Given the description of an element on the screen output the (x, y) to click on. 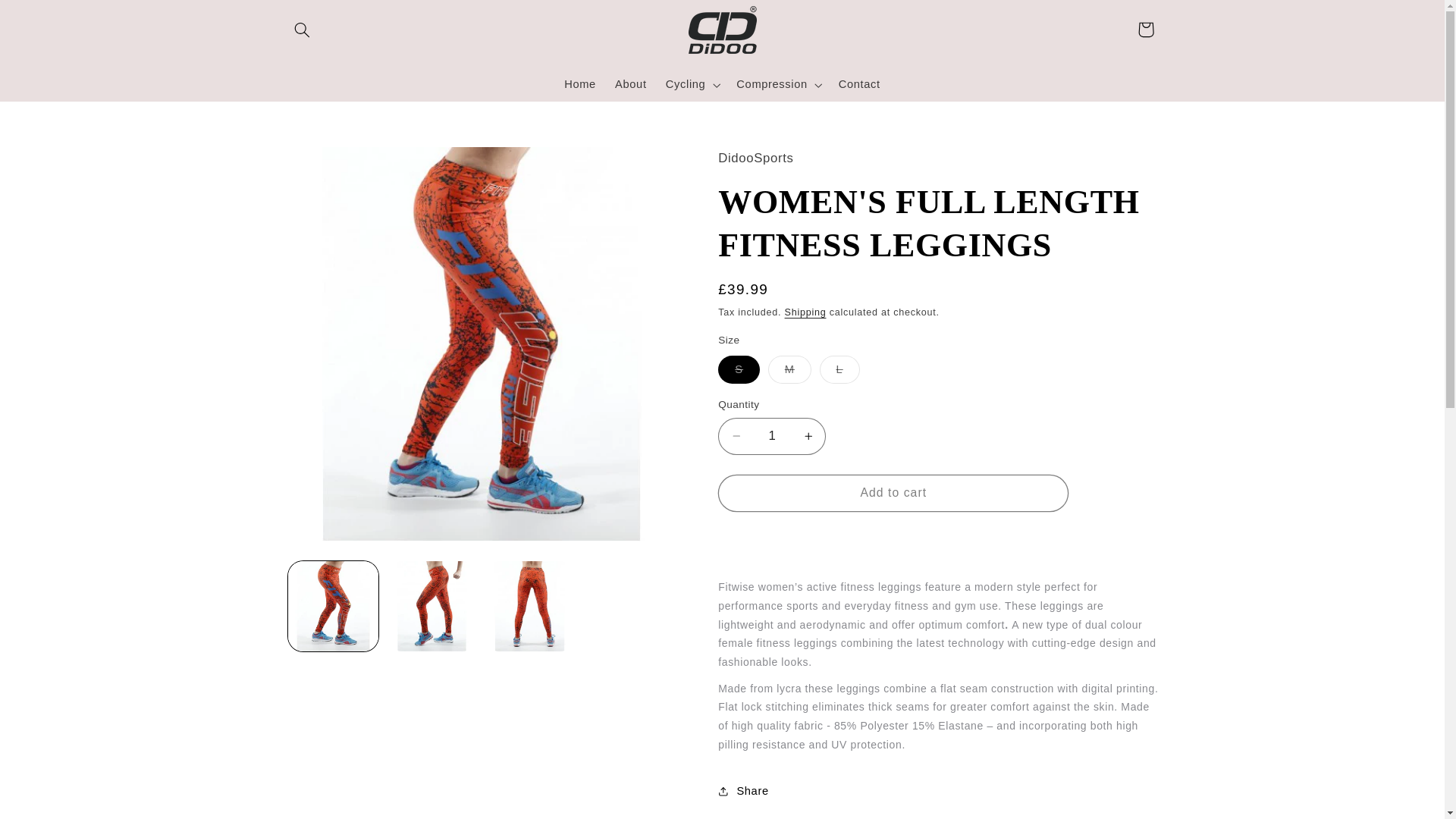
1 (771, 436)
Skip to content (48, 18)
